Given the description of an element on the screen output the (x, y) to click on. 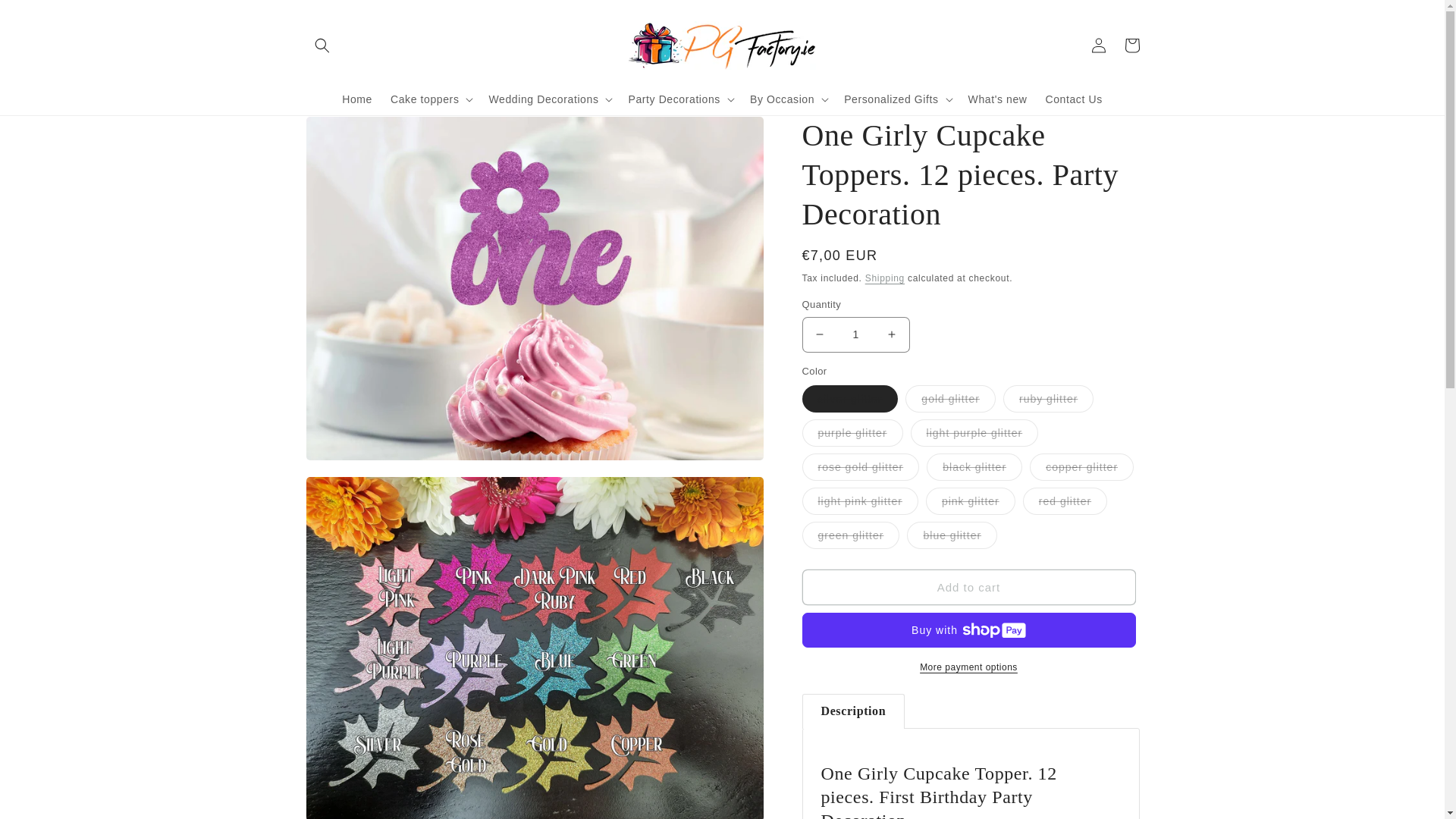
1 (856, 334)
Skip to content (45, 17)
